Given the description of an element on the screen output the (x, y) to click on. 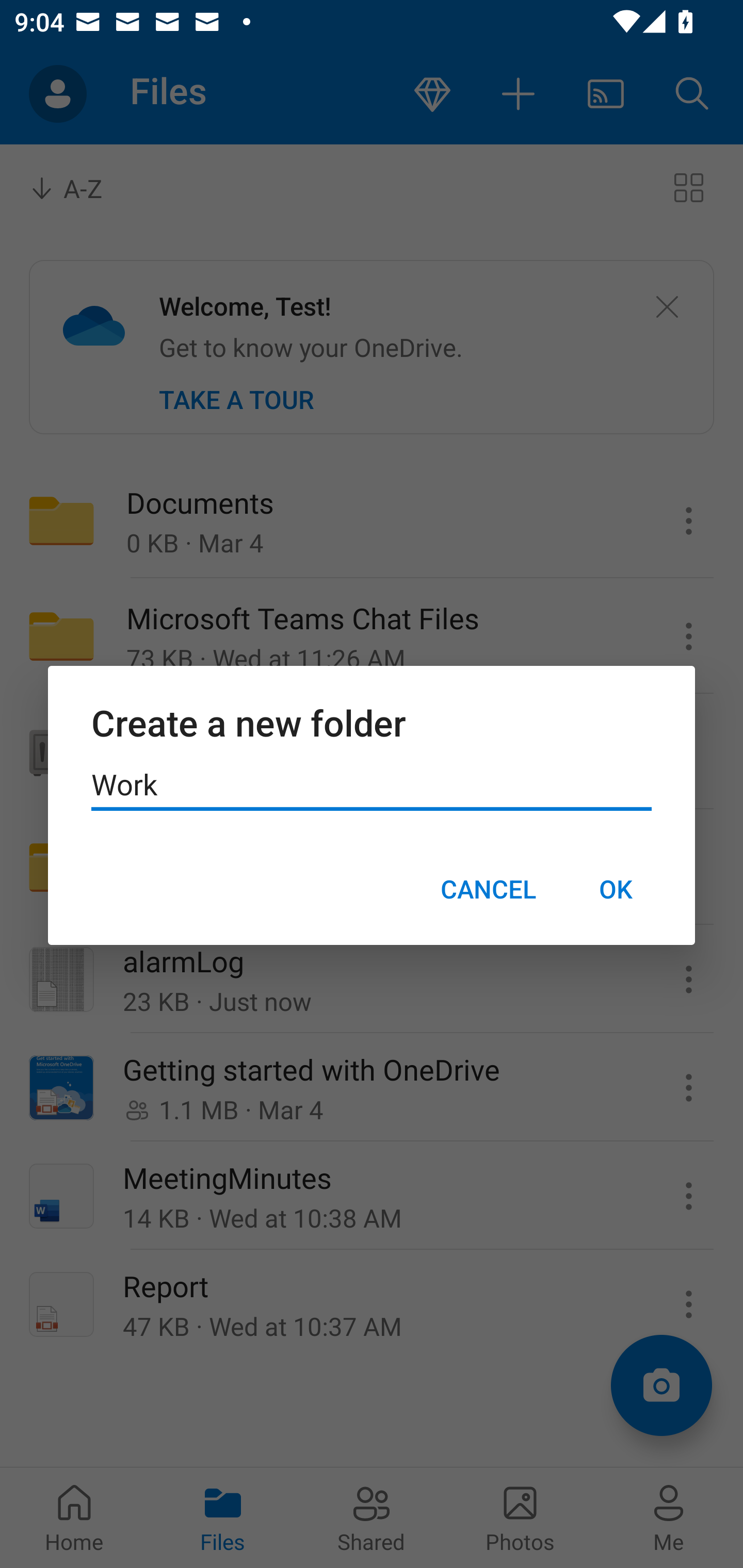
Work (371, 784)
CANCEL (488, 888)
OK (615, 888)
